Given the description of an element on the screen output the (x, y) to click on. 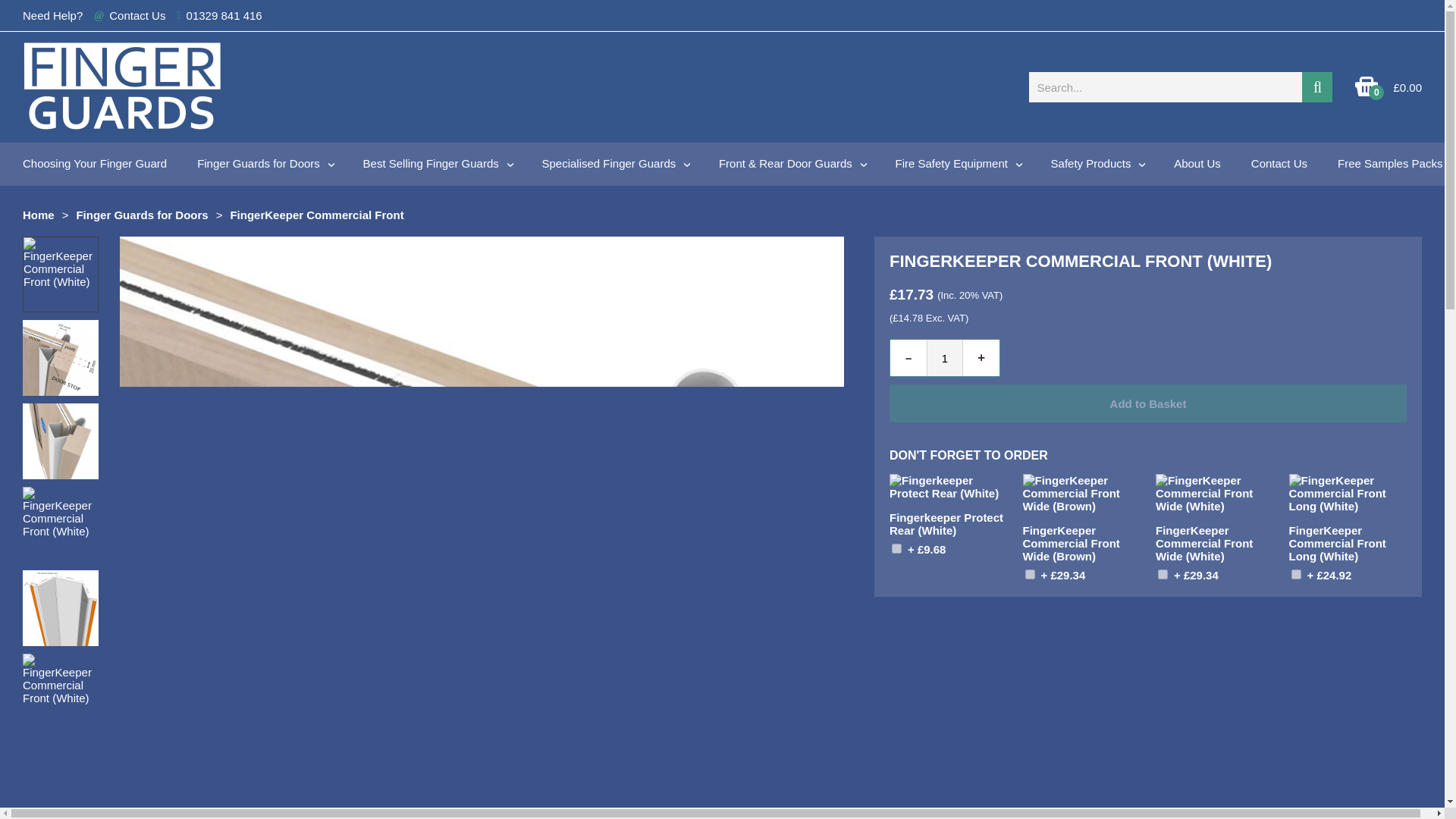
01329 841 416 (224, 15)
Contact Us (137, 15)
0 (1366, 92)
Go (1316, 87)
1 (944, 357)
Add to Basket (1187, 573)
1 (1162, 574)
Choosing Your Finger Guard (94, 163)
Add to Basket (1053, 573)
1 (1030, 574)
Specialised Finger Guards (614, 163)
Add to Basket (1320, 573)
1 (1295, 574)
1 (896, 548)
Best Selling Finger Guards (437, 163)
